Given the description of an element on the screen output the (x, y) to click on. 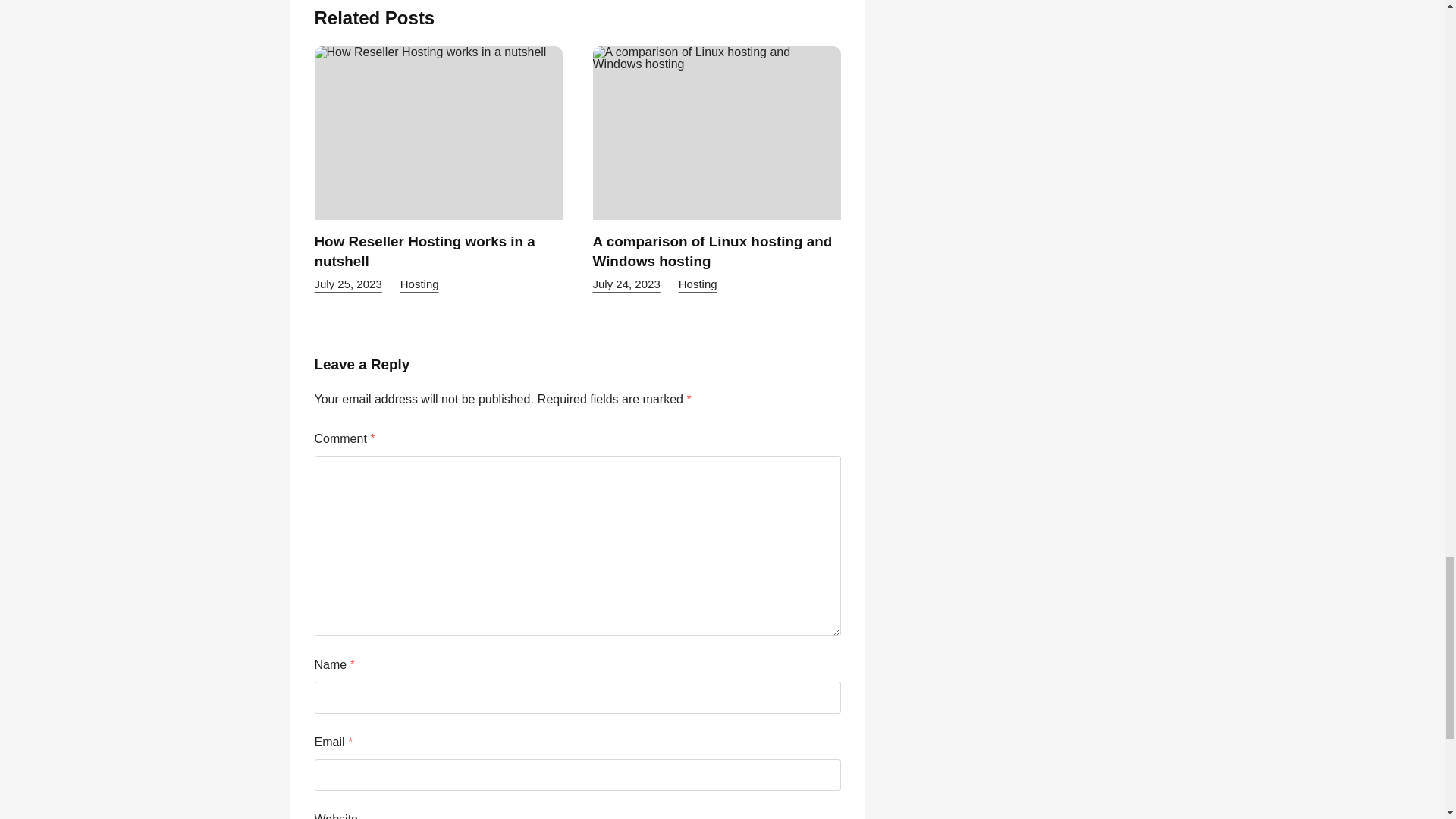
A comparison of Linux hosting and Windows hosting (712, 251)
Hosting (419, 283)
July 25, 2023 (347, 283)
July 24, 2023 (626, 283)
How Reseller Hosting works in a nutshell  (424, 251)
Hosting (697, 283)
